Given the description of an element on the screen output the (x, y) to click on. 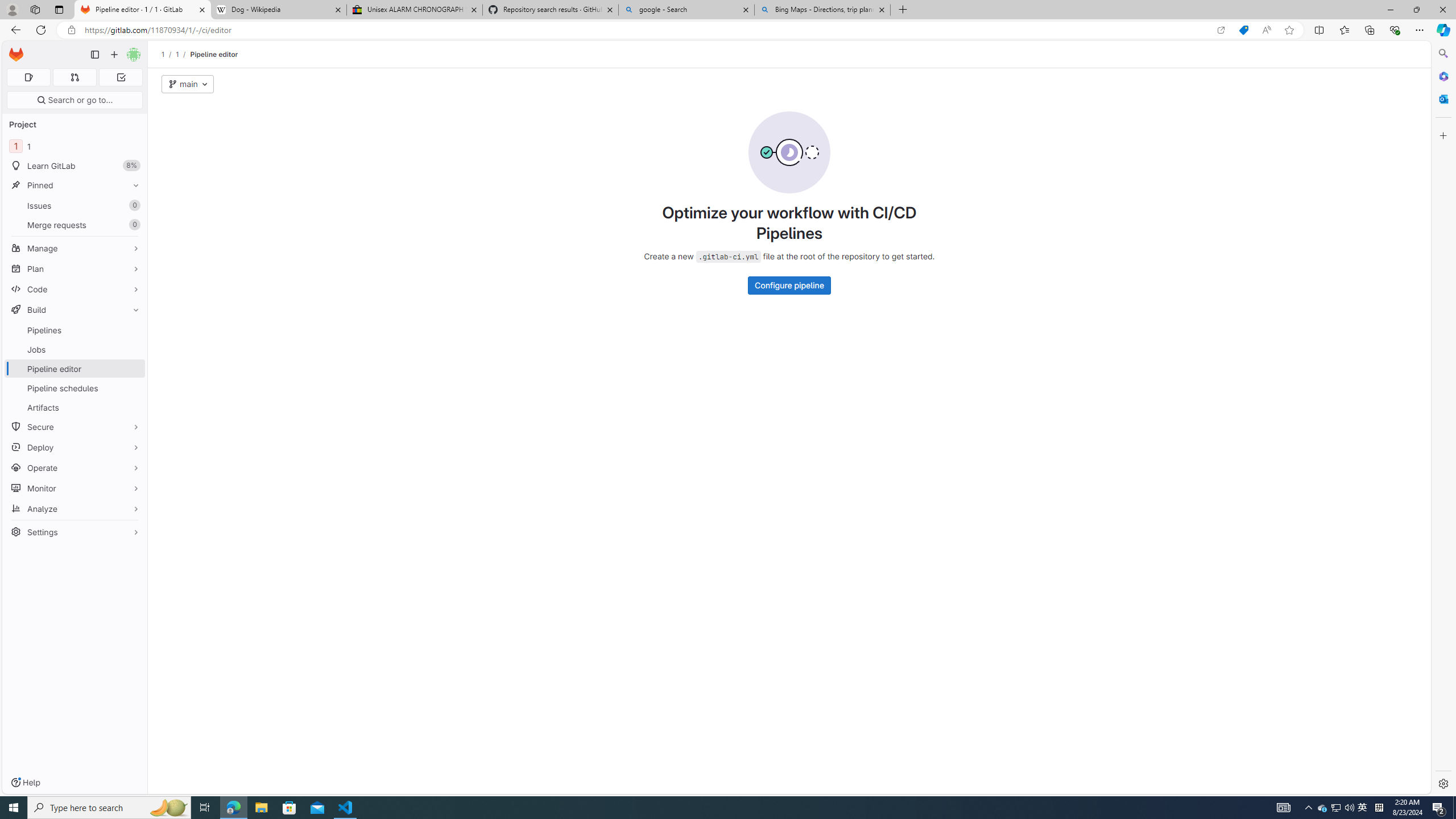
Pipeline editor (213, 53)
Issues 0 (74, 205)
Pinned (74, 185)
